Given the description of an element on the screen output the (x, y) to click on. 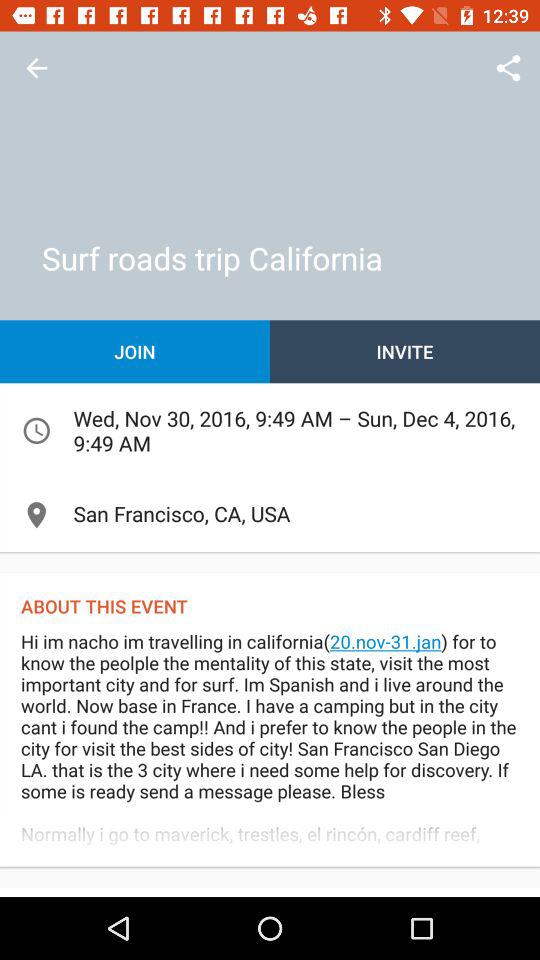
launch the icon to the right of the join item (405, 351)
